Given the description of an element on the screen output the (x, y) to click on. 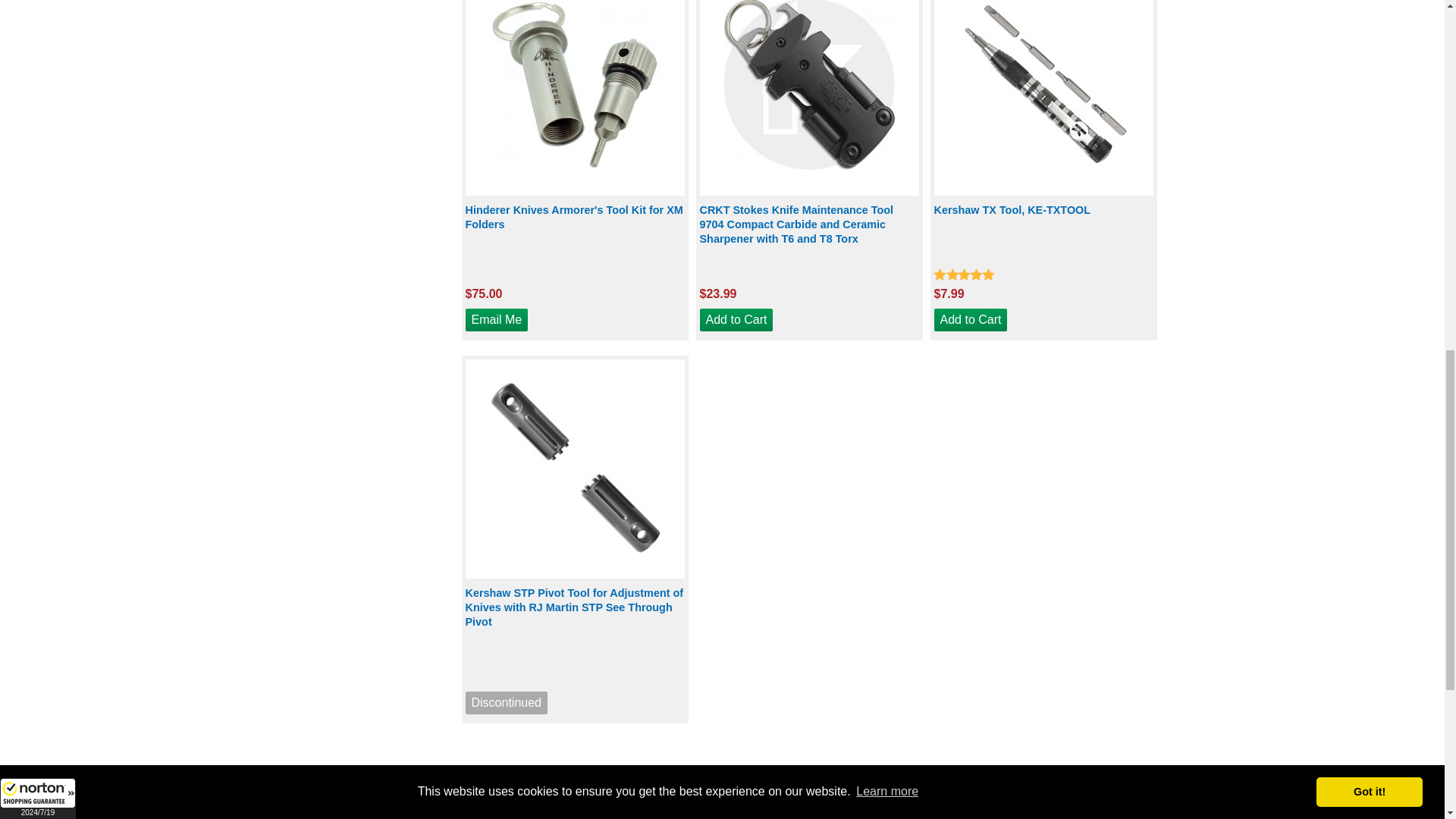
Email Me (496, 319)
Add to Cart (970, 319)
Hinderer Knives Armorer's Tool Kit for XM Folders (574, 232)
Kershaw TX Tool, KE-TXTOOL (1043, 232)
Discontinued (506, 702)
Add to Cart (736, 319)
